Given the description of an element on the screen output the (x, y) to click on. 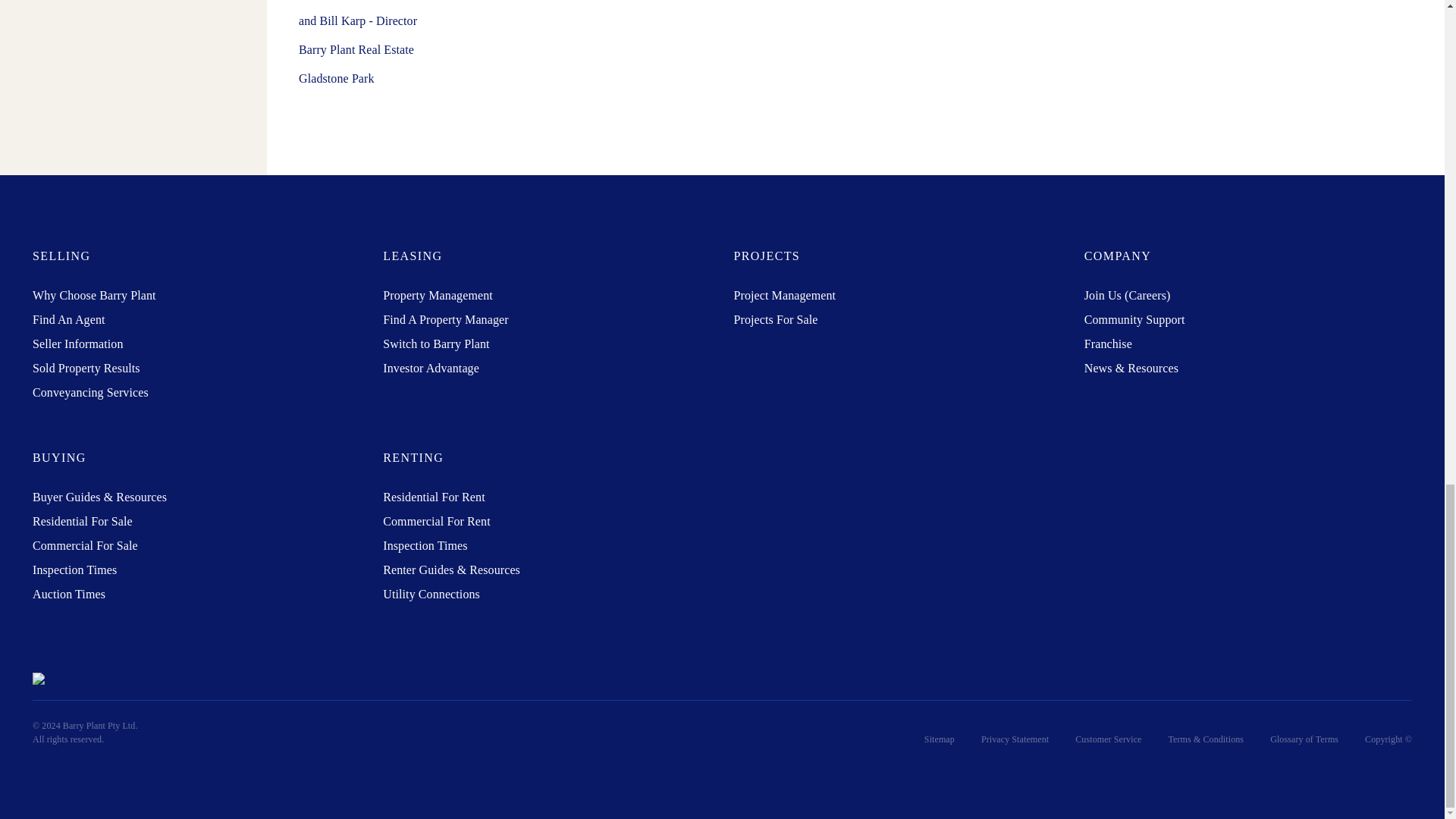
Why Choose Barry Plant (93, 295)
Find An Agent (68, 318)
